Given the description of an element on the screen output the (x, y) to click on. 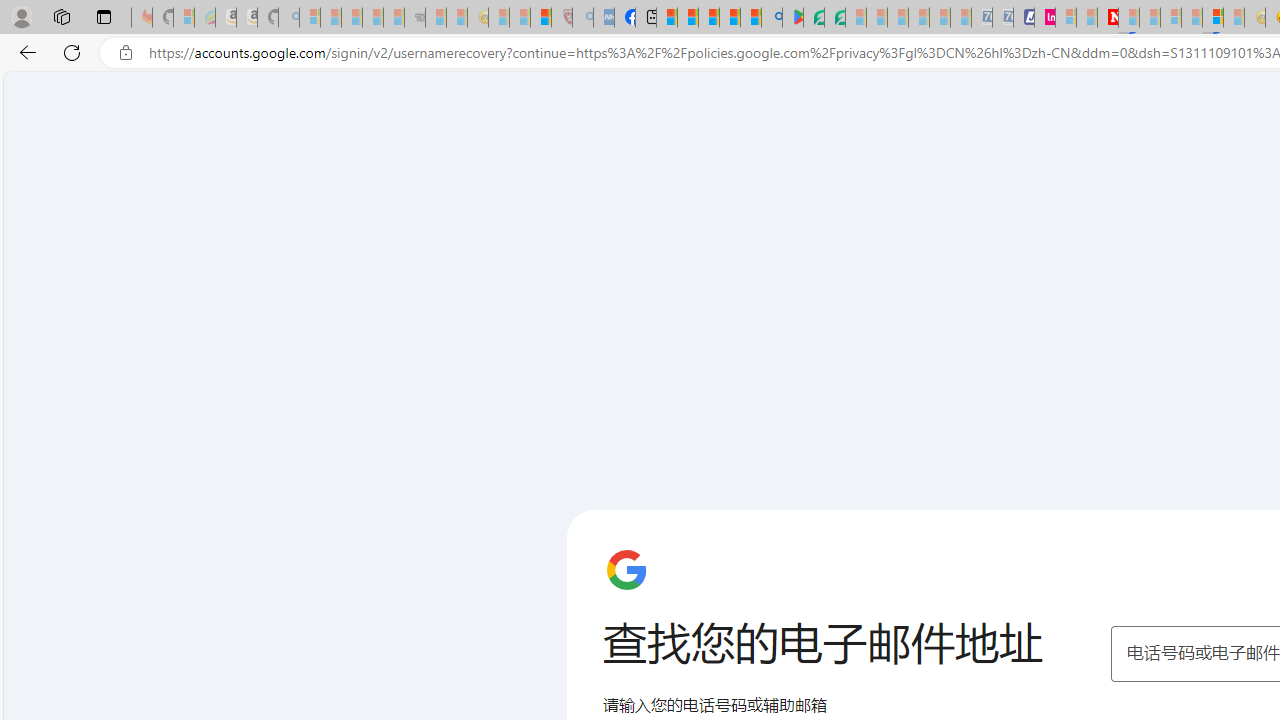
Robert H. Shmerling, MD - Harvard Health - Sleeping (561, 17)
Microsoft Word - consumer-privacy address update 2.2021 (834, 17)
Trusted Community Engagement and Contributions | Guidelines (1128, 17)
14 Common Myths Debunked By Scientific Facts - Sleeping (1149, 17)
Microsoft account | Privacy - Sleeping (1066, 17)
Jobs - lastminute.com Investor Portal (1044, 17)
